Given the description of an element on the screen output the (x, y) to click on. 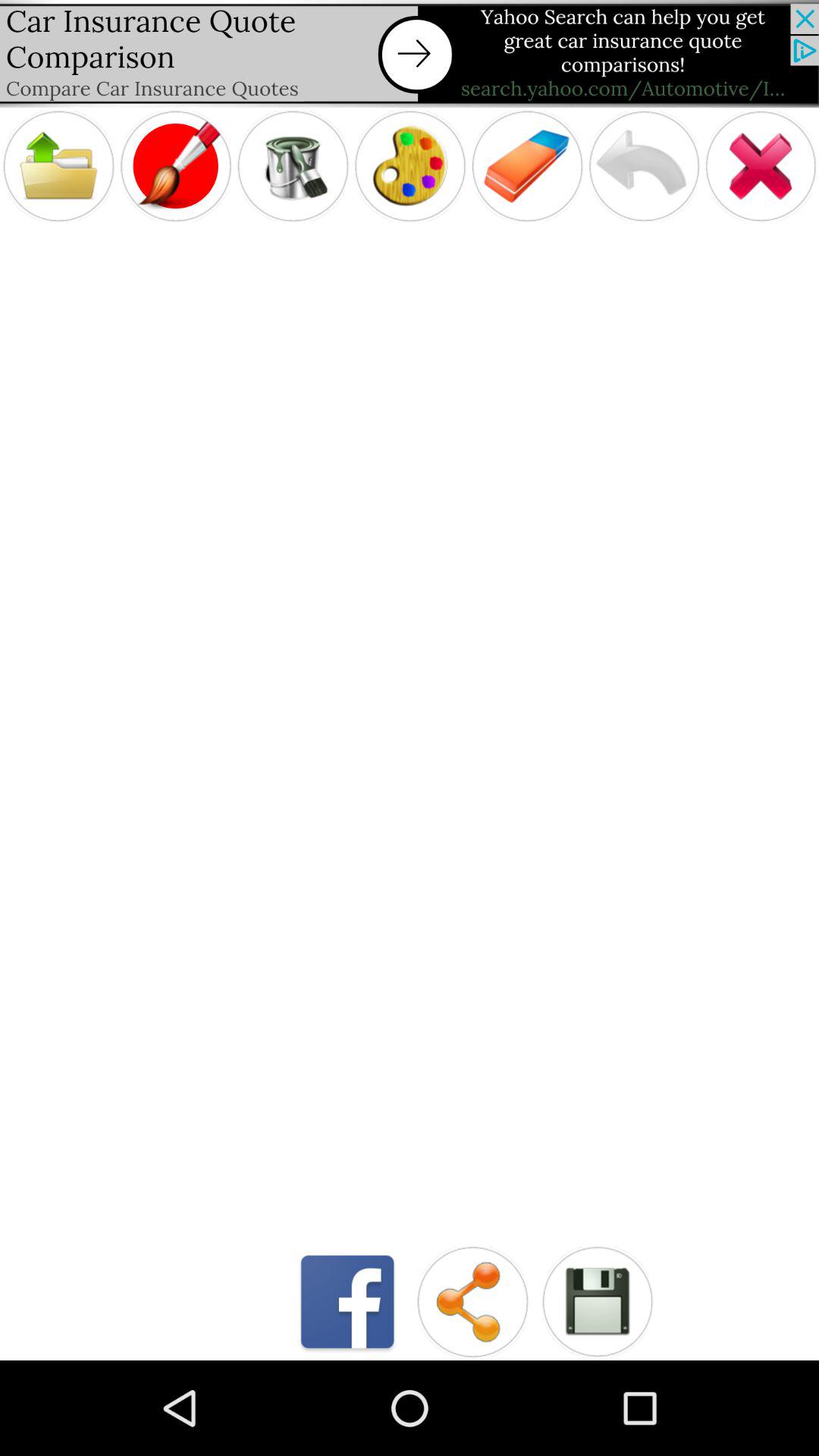
facebook icon (347, 1301)
